Given the description of an element on the screen output the (x, y) to click on. 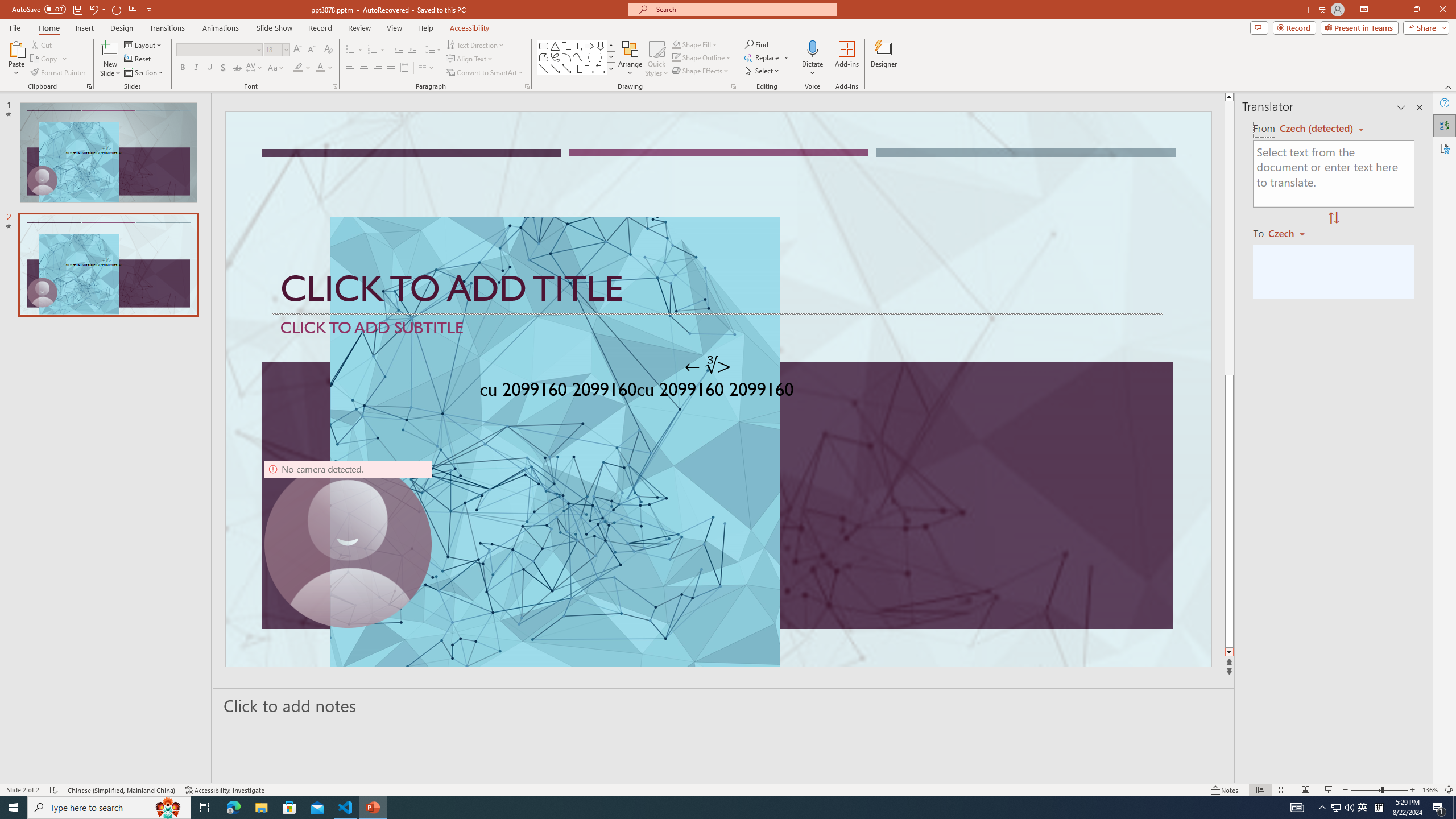
Connector: Elbow Double-Arrow (600, 68)
TextBox 7 (707, 366)
Shape Fill Dark Green, Accent 2 (675, 44)
